Given the description of an element on the screen output the (x, y) to click on. 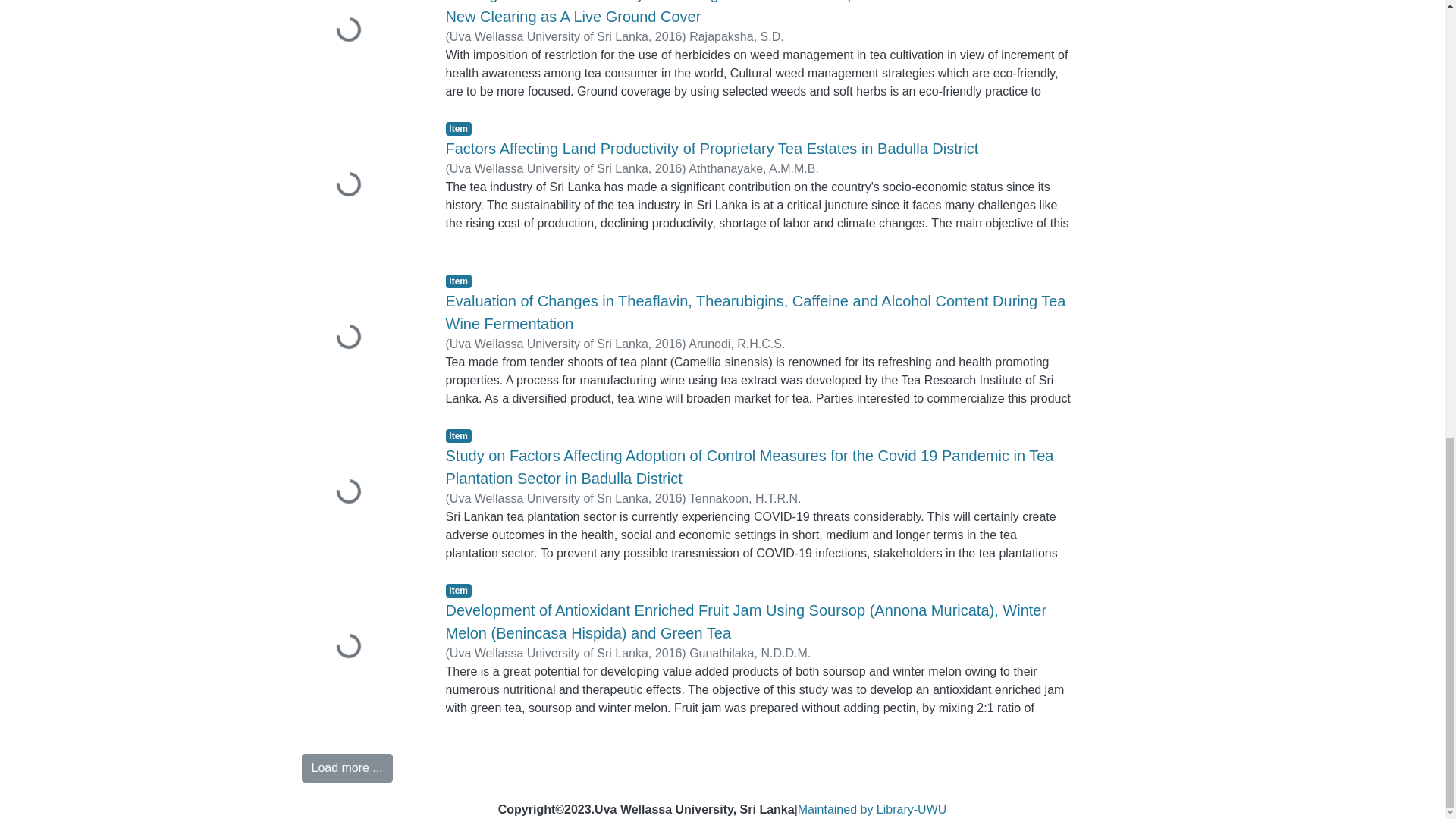
Loading... (362, 492)
Loading... (362, 338)
Loading... (362, 49)
Loading... (362, 185)
